Given the description of an element on the screen output the (x, y) to click on. 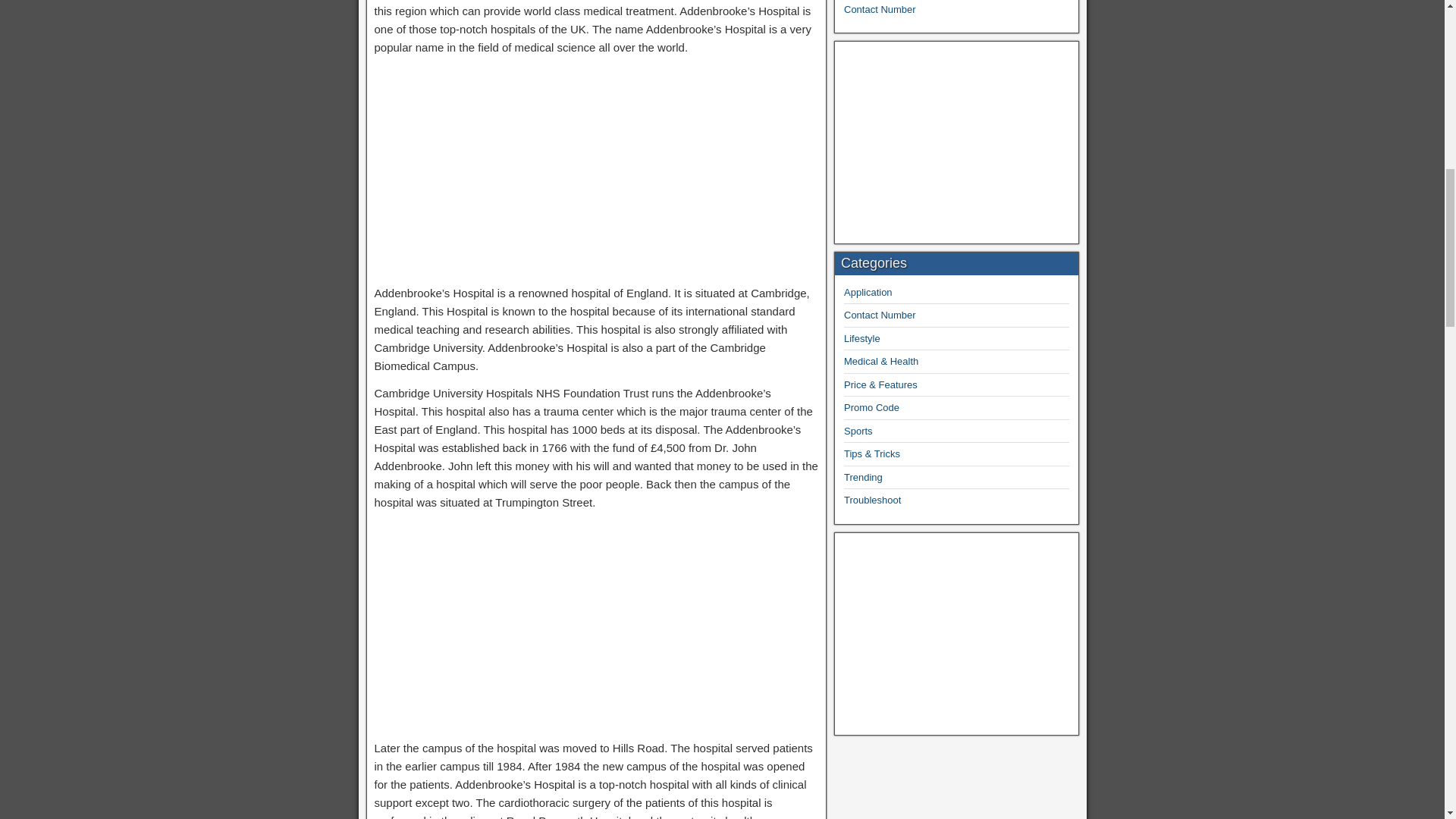
Troubleshoot (872, 500)
Contact Number (879, 315)
Lifestyle (862, 337)
Trending (863, 477)
Wythenshawe Hospital Consultants List and Contact Number (940, 7)
Promo Code (871, 407)
Application (868, 292)
Sports (858, 430)
